Given the description of an element on the screen output the (x, y) to click on. 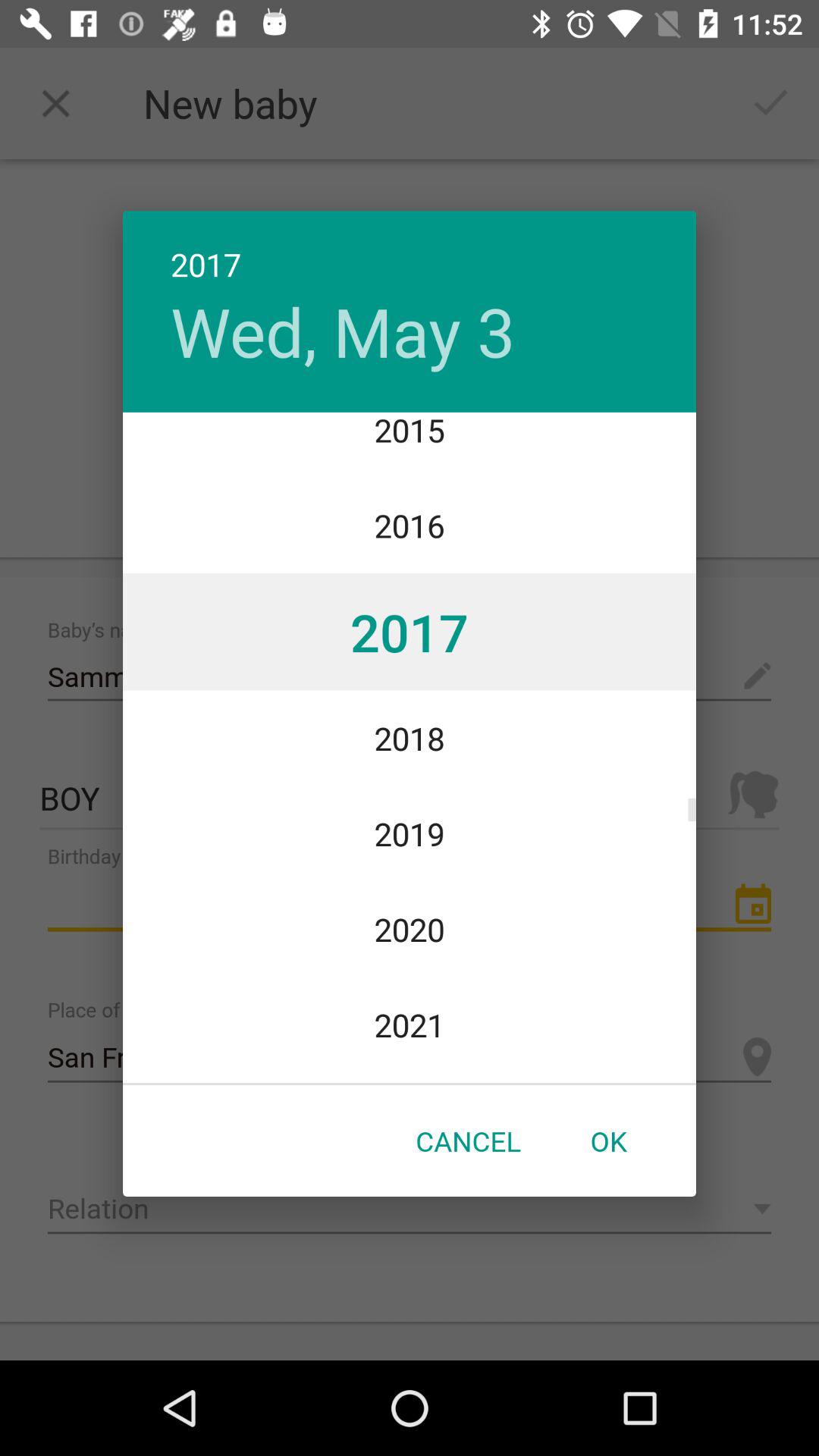
click ok icon (608, 1140)
